Given the description of an element on the screen output the (x, y) to click on. 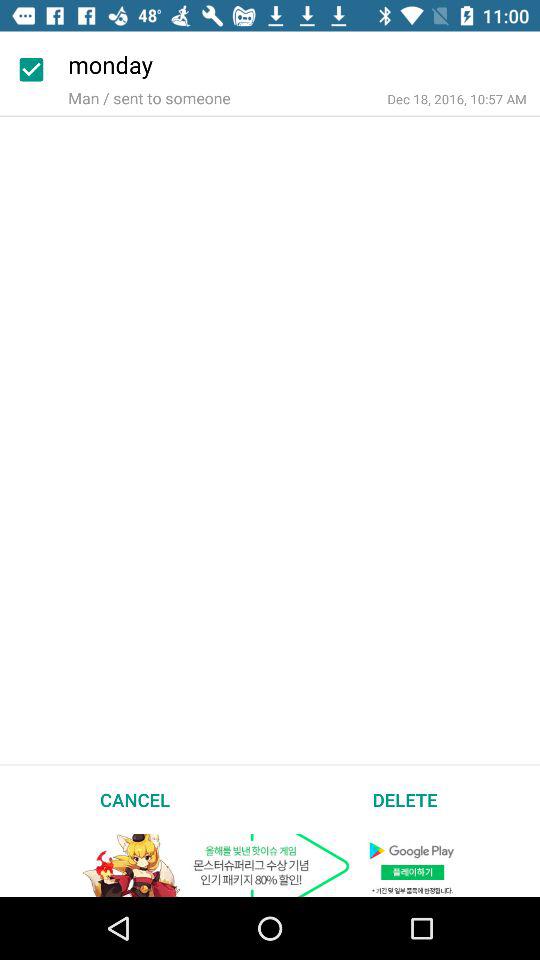
tap the icon next to the monday item (33, 69)
